Given the description of an element on the screen output the (x, y) to click on. 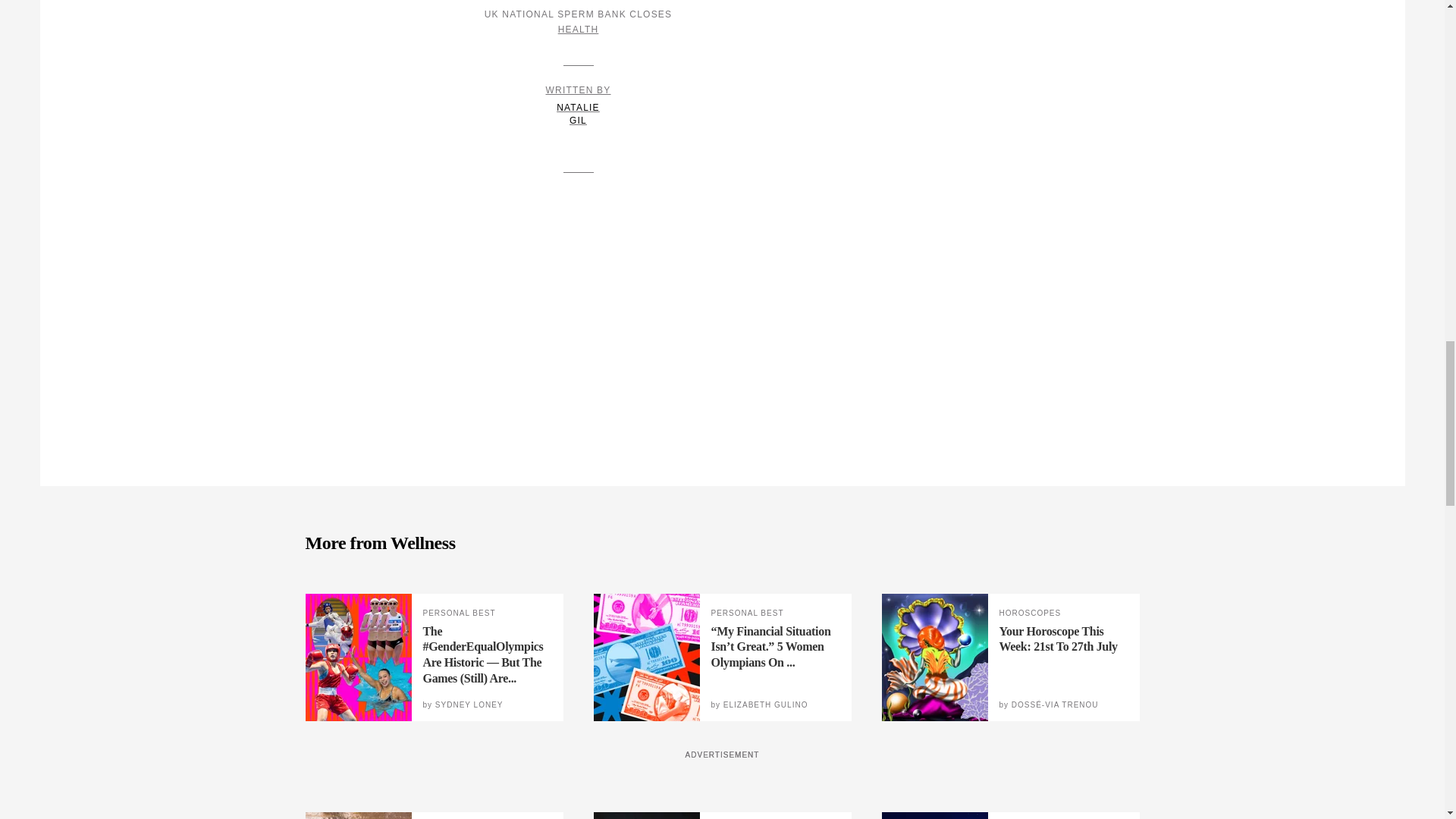
HEALTH (577, 105)
